Given the description of an element on the screen output the (x, y) to click on. 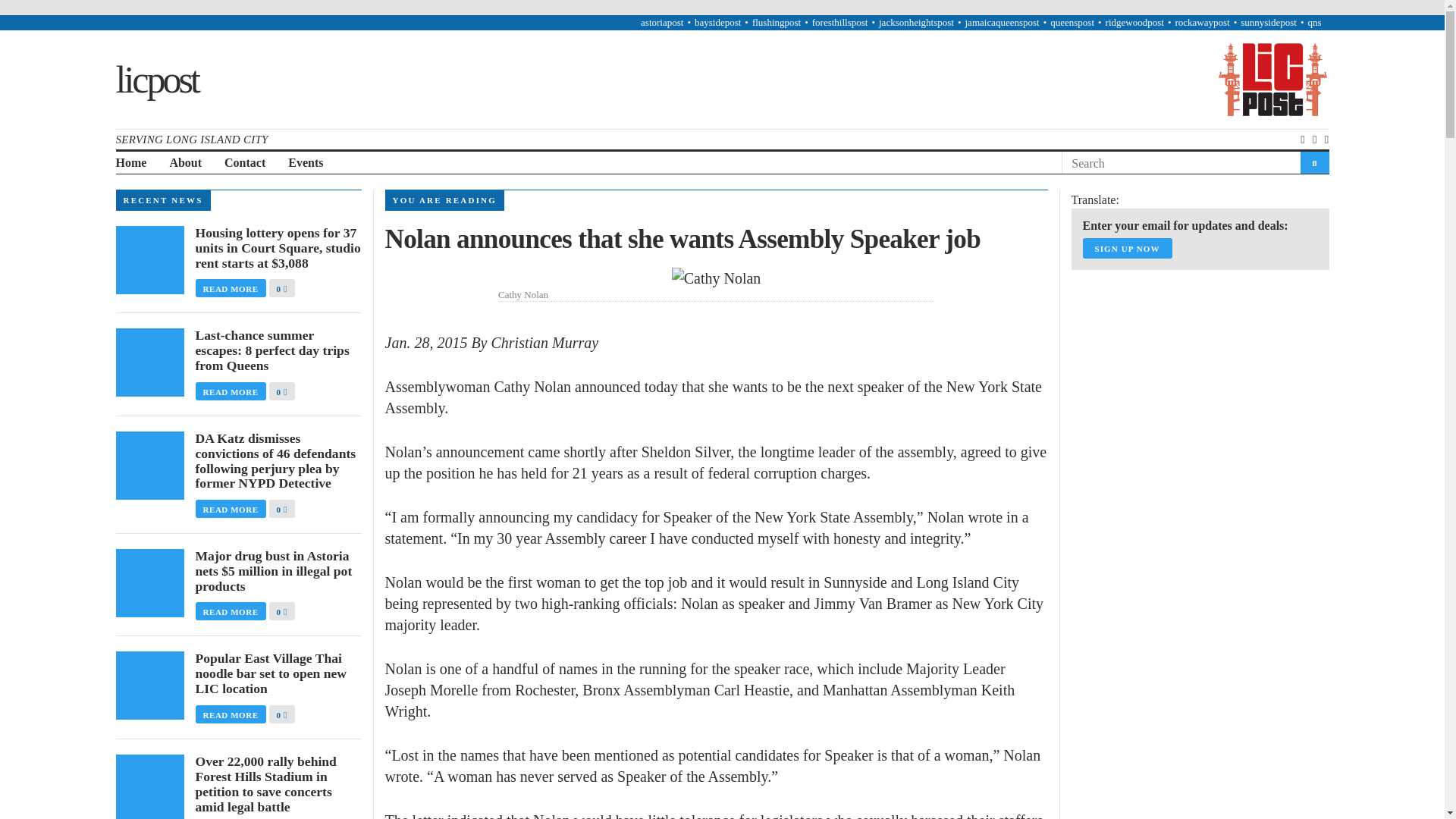
qns (1313, 21)
About (185, 163)
ridgewoodpost (1134, 21)
baysidepost (717, 21)
flushingpost (776, 21)
Contact (244, 163)
queenspost (1071, 21)
astoriapost (661, 21)
foresthillspost (839, 21)
rockawaypost (1201, 21)
